Given the description of an element on the screen output the (x, y) to click on. 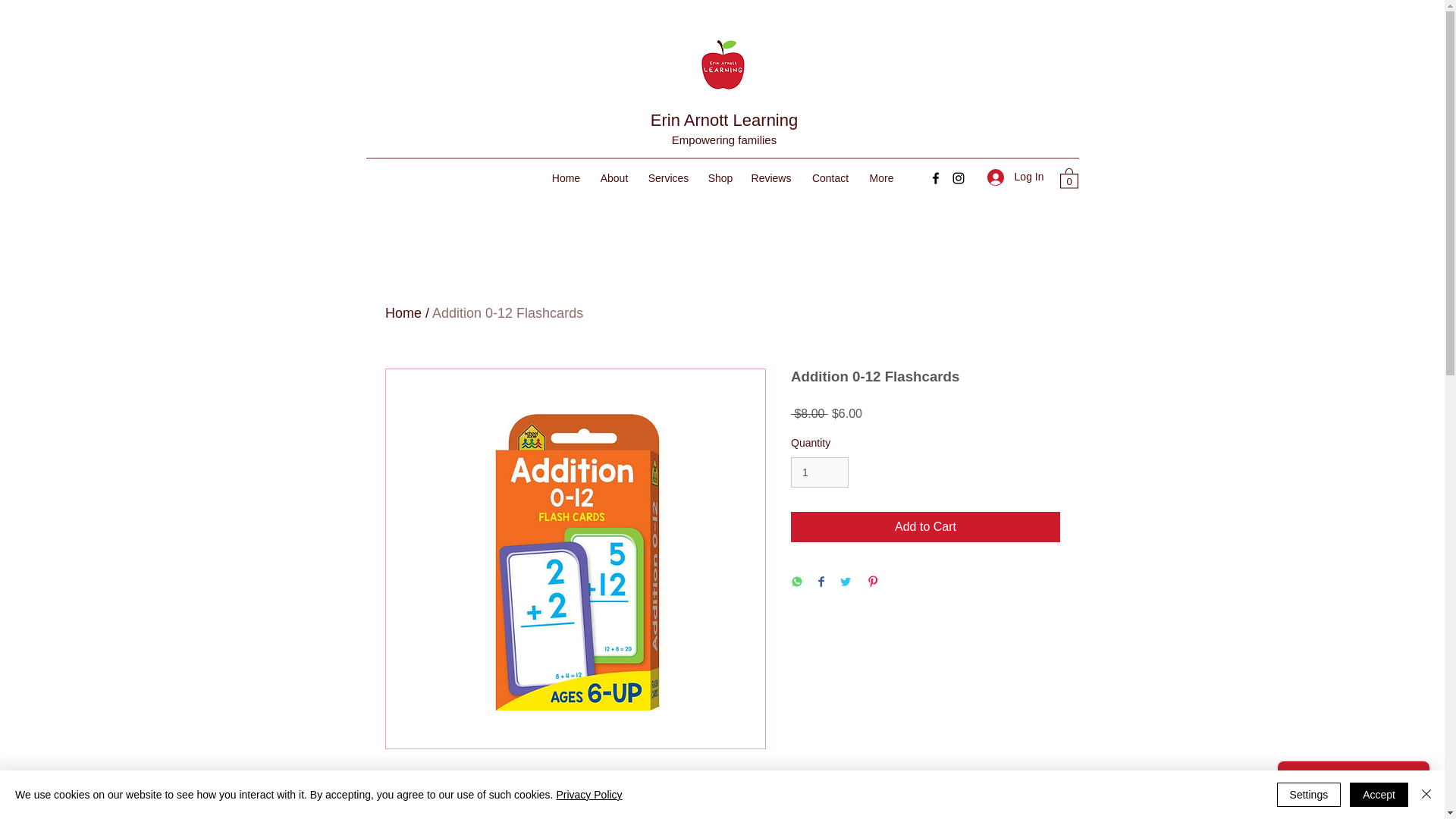
Reviews (770, 178)
Shop (720, 178)
Add to Cart (924, 526)
Accept (1378, 794)
Log In (1015, 176)
About (613, 178)
Services (668, 178)
Home (565, 178)
Contact (830, 178)
Addition 0-12 Flashcards (507, 313)
